Given the description of an element on the screen output the (x, y) to click on. 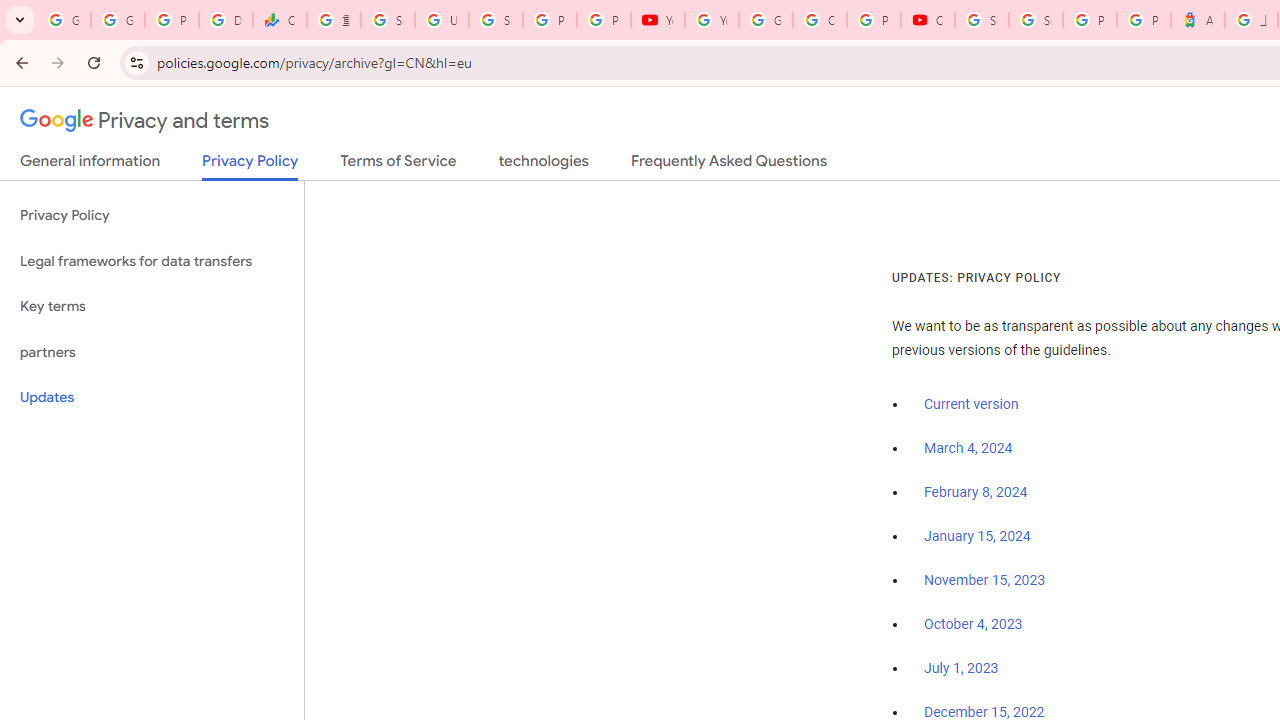
Content Creator Programs & Opportunities - YouTube Creators (927, 20)
Key terms (152, 306)
March 4, 2024 (968, 448)
General information (90, 165)
January 15, 2024 (977, 536)
technologies (542, 165)
Terms of Service (398, 165)
July 1, 2023 (961, 669)
Privacy Policy (152, 215)
YouTube (711, 20)
Google Account Help (765, 20)
